Given the description of an element on the screen output the (x, y) to click on. 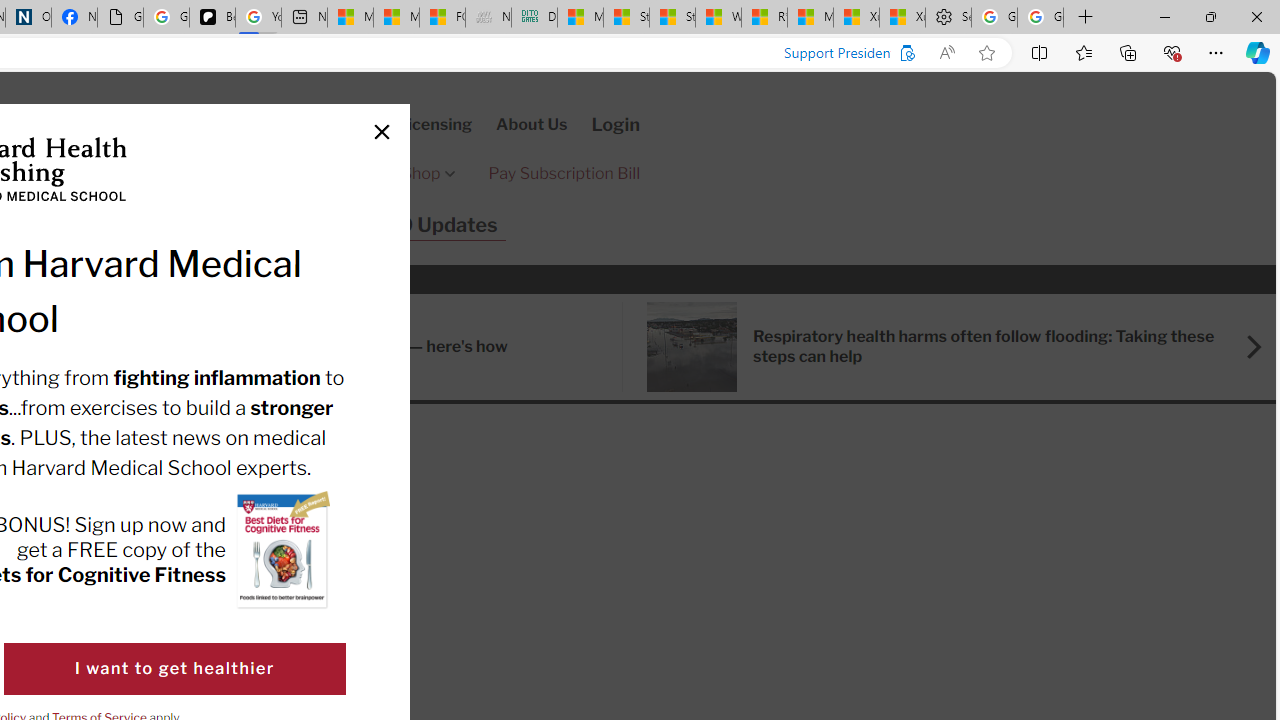
blog image 1 (691, 346)
Resources (61, 225)
Be Smart | creating Science videos | Patreon (212, 17)
About Us (532, 124)
Shopping Cart (133, 124)
FOX News - MSN (441, 17)
